Given the description of an element on the screen output the (x, y) to click on. 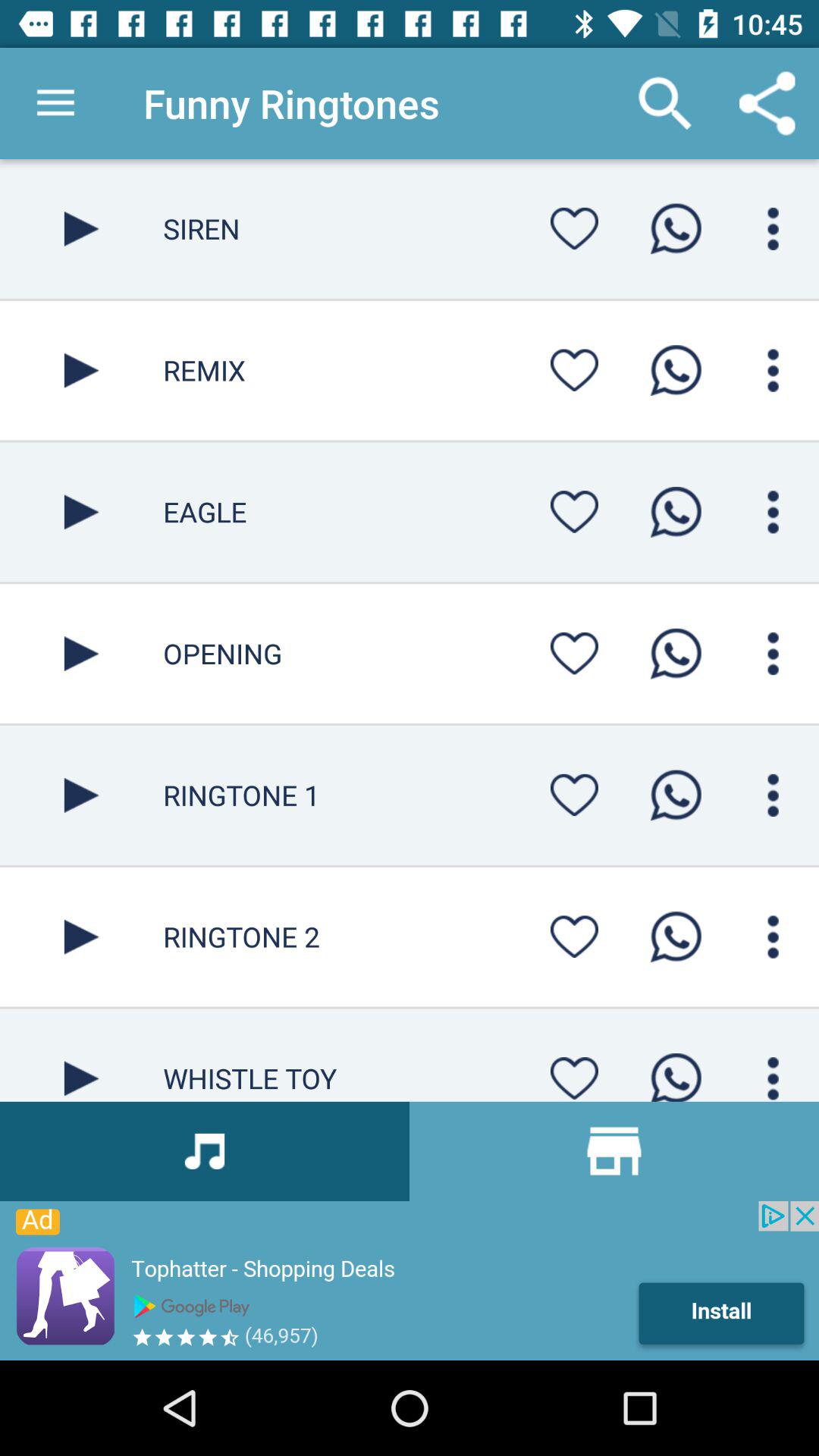
like (574, 1074)
